Given the description of an element on the screen output the (x, y) to click on. 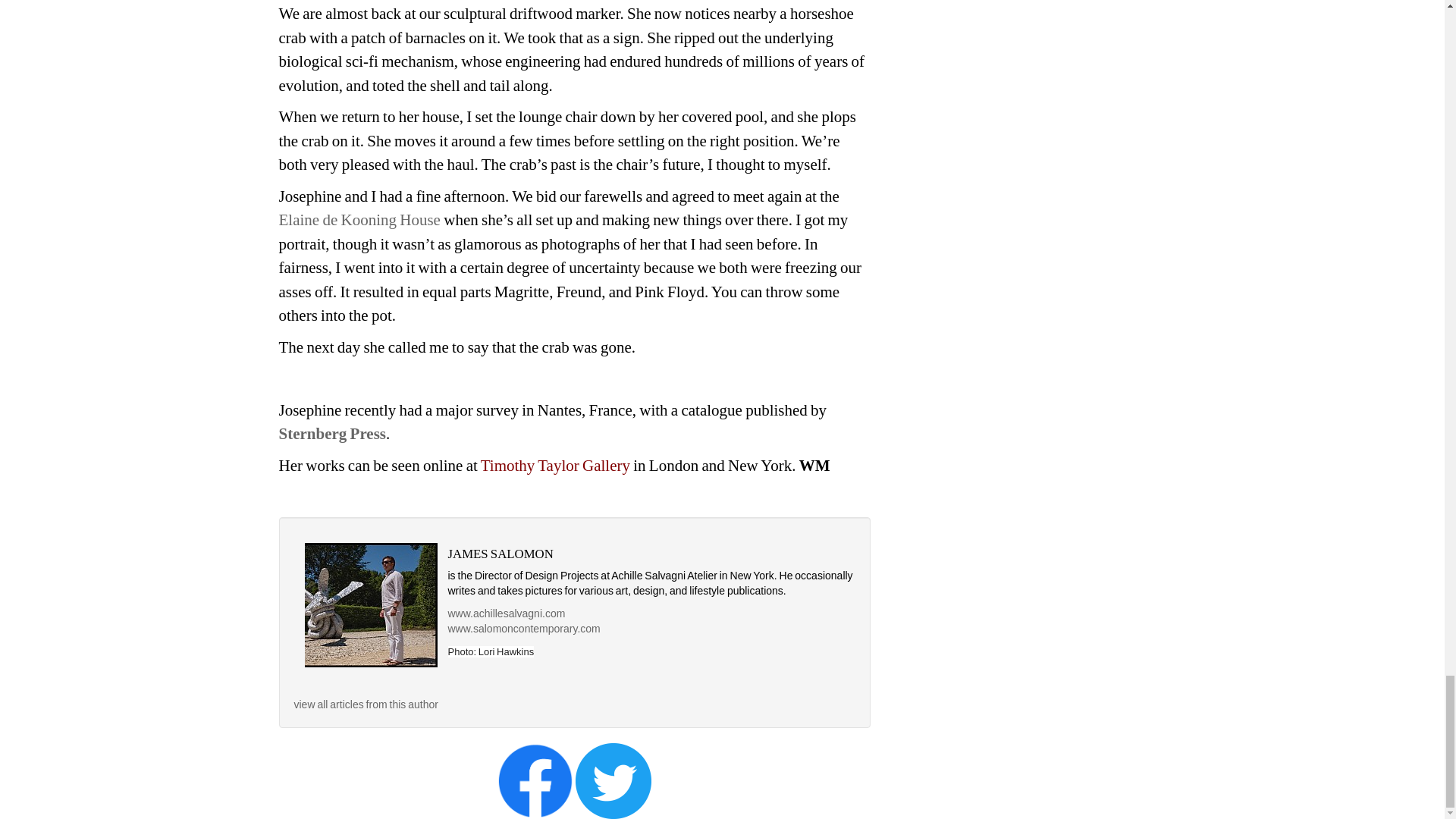
Facebook (535, 779)
www.salomoncontemporary.com (522, 628)
www.achillesalvagni.com (505, 613)
view all articles from this author (366, 704)
Sternberg Press (333, 434)
Elaine de Kooning House (360, 219)
Timothy Taylor Gallery (555, 465)
